Given the description of an element on the screen output the (x, y) to click on. 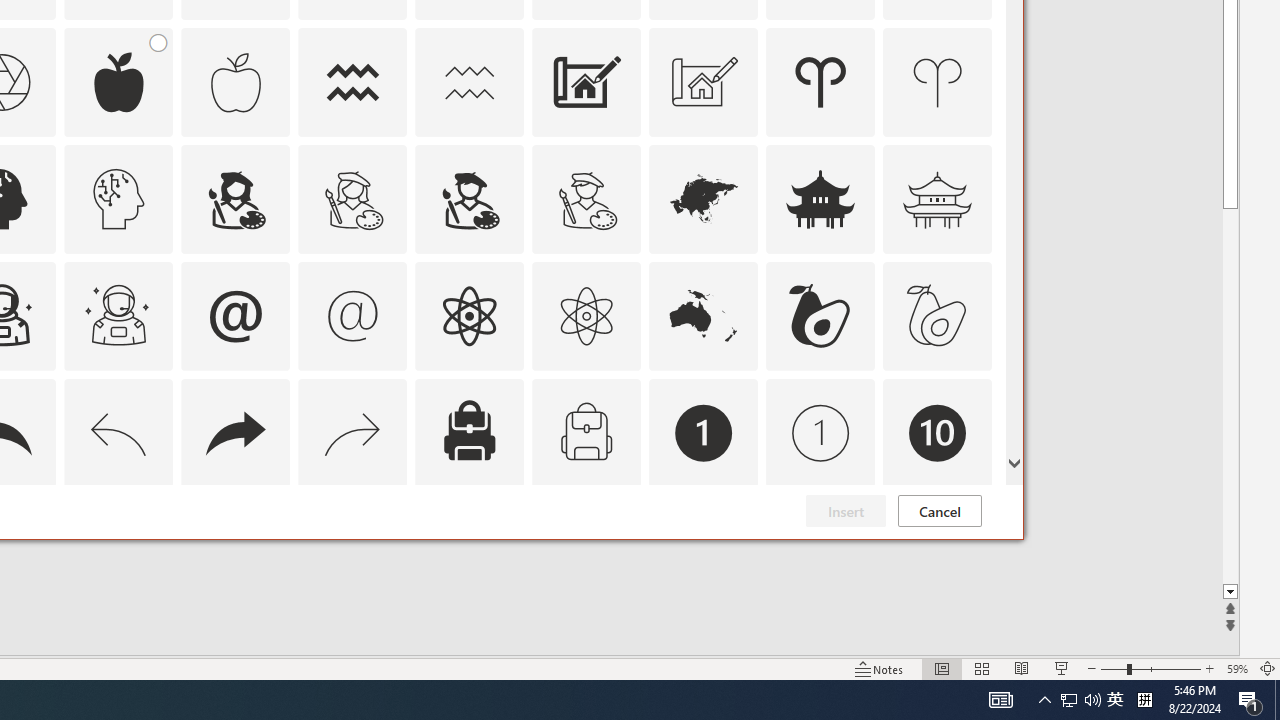
AutomationID: Icons_Badge1 (703, 432)
AutomationID: Icons_Badge10 (938, 432)
AutomationID: Icons_Avocado (820, 316)
AutomationID: Icons_Australia (703, 316)
